Given the description of an element on the screen output the (x, y) to click on. 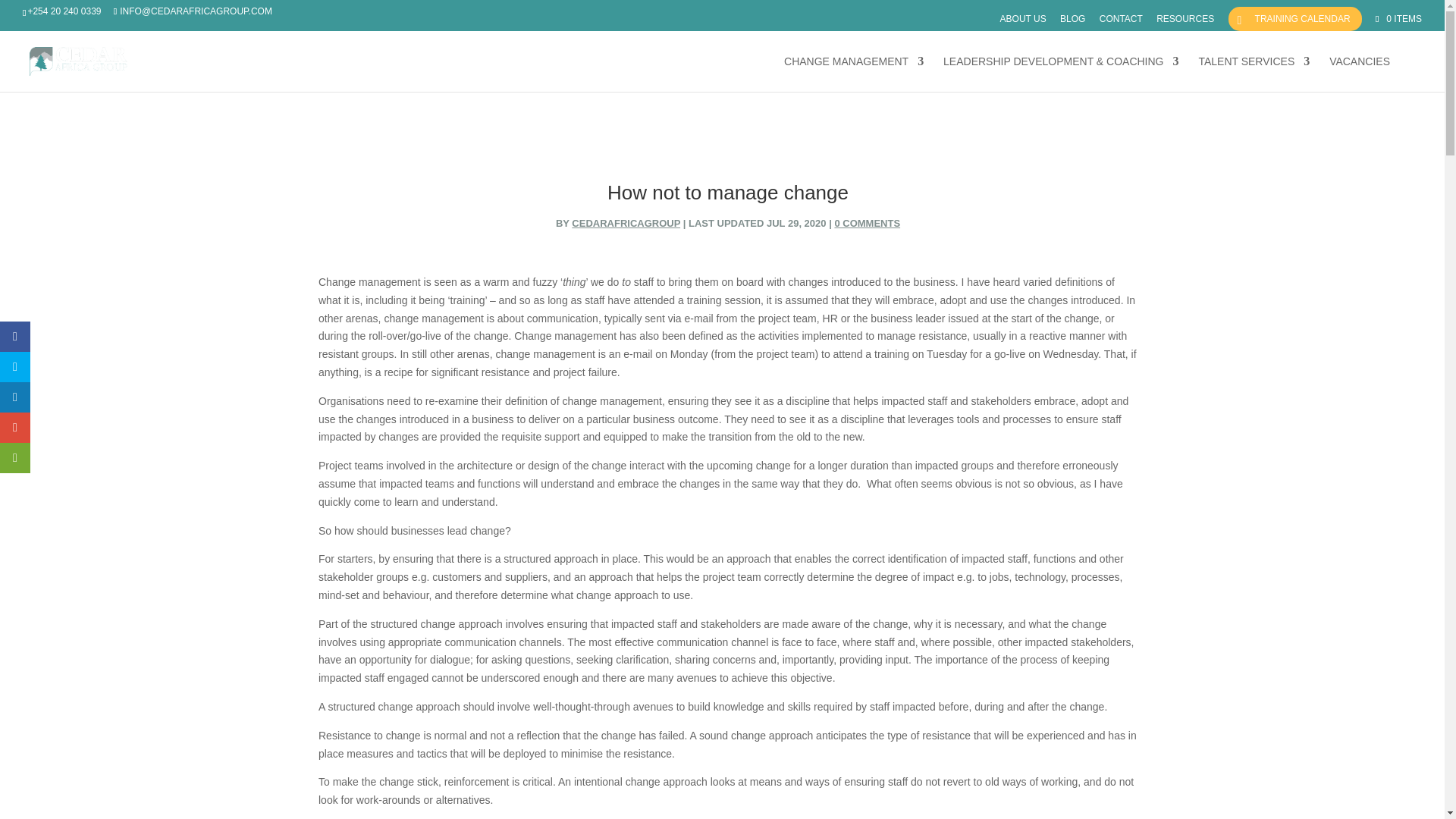
CONTACT (1120, 22)
RESOURCES (1185, 22)
Posts by cedarafricagroup (625, 223)
0 ITEMS (1397, 18)
TRAINING CALENDAR (1294, 18)
ABOUT US (1023, 22)
BLOG (1071, 22)
CHANGE MANAGEMENT (853, 73)
